Given the description of an element on the screen output the (x, y) to click on. 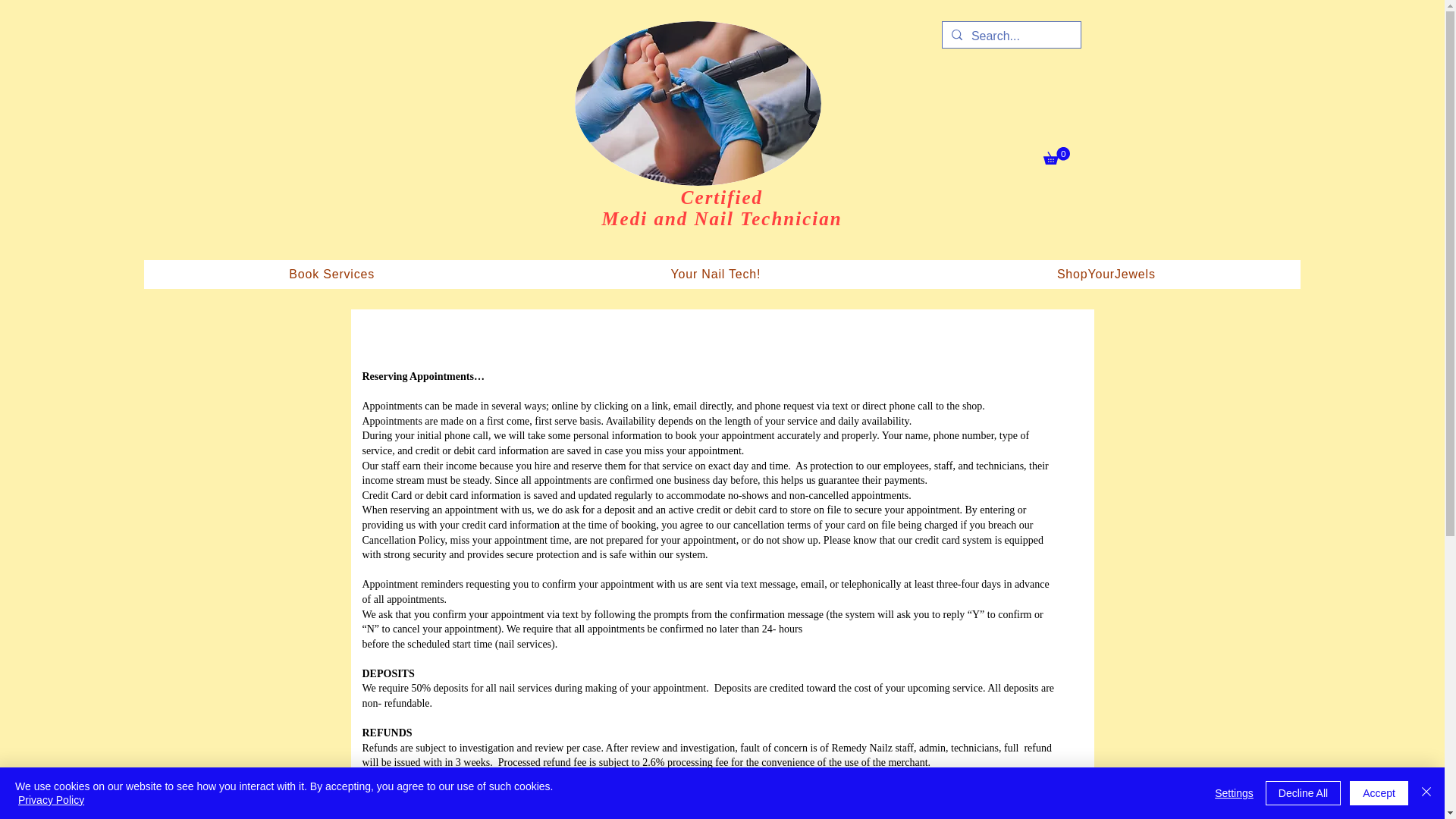
ShopYourJewels (1106, 274)
Privacy Policy (50, 799)
Pedicure (698, 103)
0 (1056, 155)
0 (1056, 155)
Accept (1378, 793)
Your Nail Tech! (715, 274)
Decline All (1302, 793)
Book Services (331, 274)
